Given the description of an element on the screen output the (x, y) to click on. 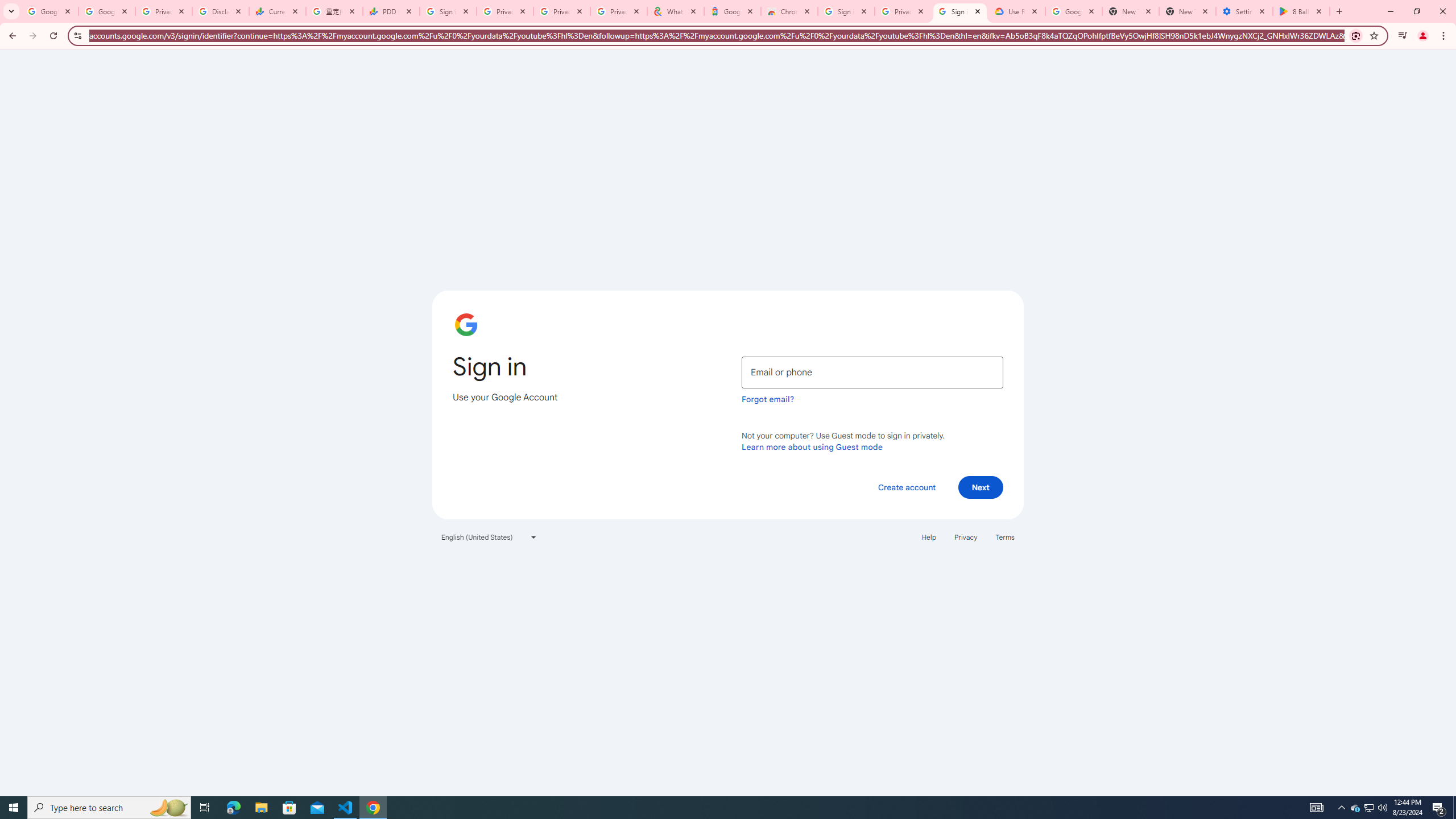
Google Workspace Admin Community (49, 11)
Search with Google Lens (1355, 35)
Email or phone (872, 372)
Google (731, 11)
Forgot email? (767, 398)
Terms (1005, 536)
Control your music, videos, and more (1402, 35)
PDD Holdings Inc - ADR (PDD) Price & News - Google Finance (391, 11)
